Given the description of an element on the screen output the (x, y) to click on. 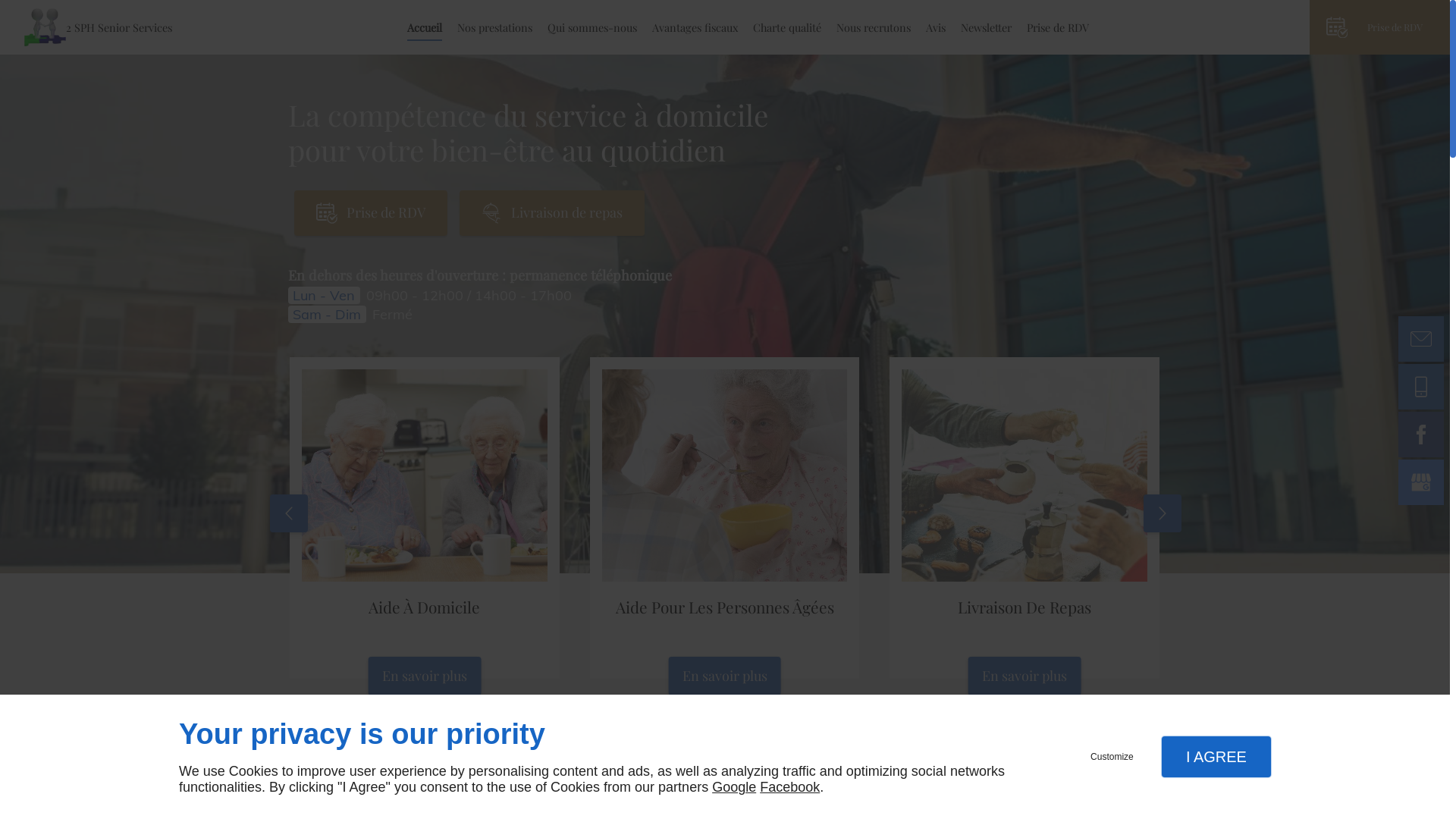
Prise de RDV Element type: text (370, 212)
Facebook Element type: text (789, 786)
Qui sommes-nous Element type: text (592, 26)
Mybusiness Element type: hover (1420, 482)
Facebook Element type: hover (1420, 434)
Prise de RDV Element type: text (1057, 26)
Livraison de repas Element type: text (552, 212)
2 SPH Senior Services Element type: text (104, 27)
Accueil Element type: text (424, 26)
Avantages fiscaux Element type: text (694, 26)
Avis Element type: text (935, 26)
Prise de RDV Element type: text (1379, 27)
Nos prestations Element type: text (494, 26)
Google Element type: text (734, 786)
Livraison De Repas Element type: text (1024, 517)
Nous recrutons Element type: text (873, 26)
Newsletter Element type: text (985, 26)
